Given the description of an element on the screen output the (x, y) to click on. 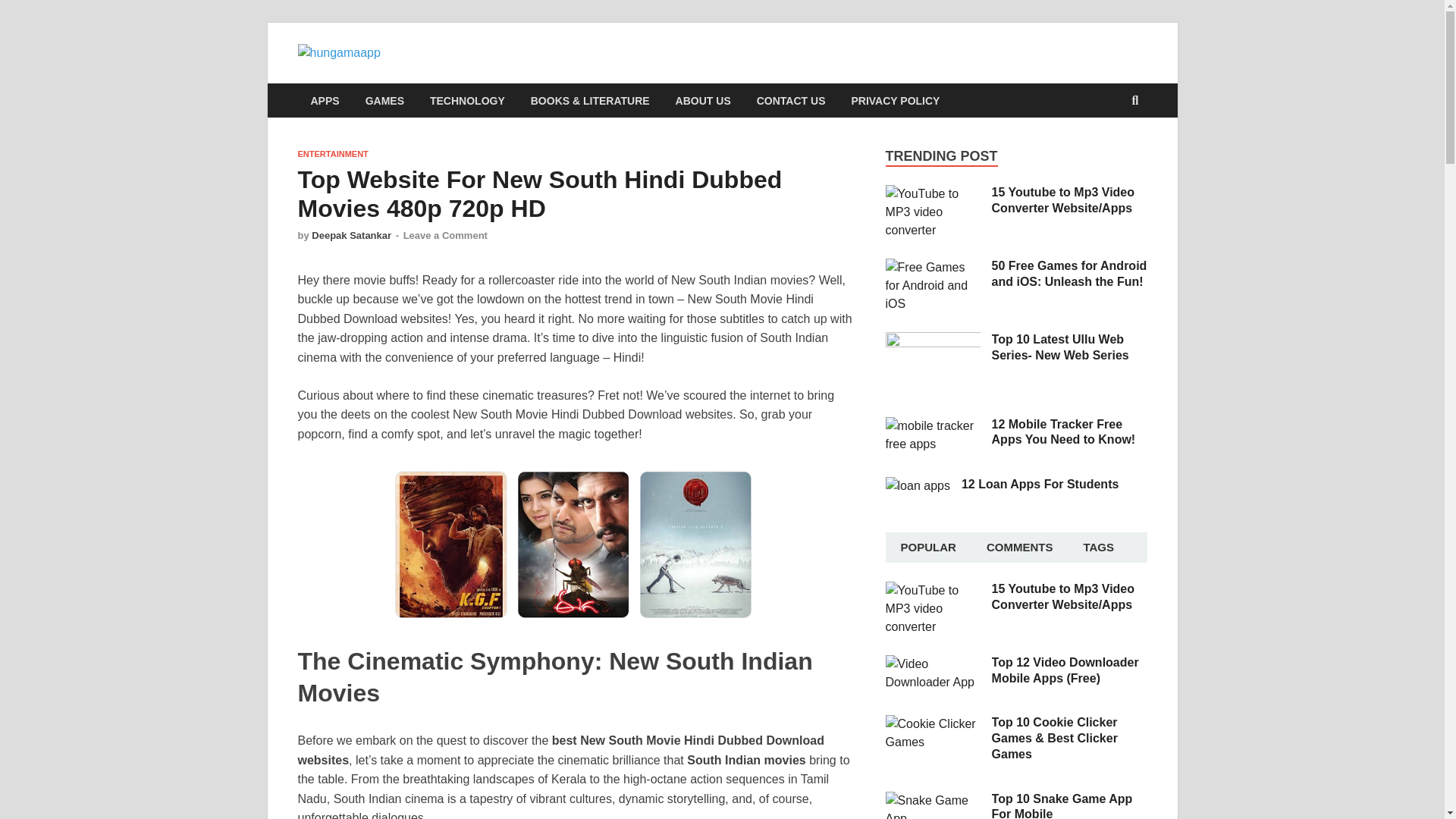
50 Free Games for Android and iOS: Unleash the Fun! (1069, 273)
Leave a Comment (445, 235)
PRIVACY POLICY (895, 100)
Deepak Satankar (351, 235)
TECHNOLOGY (467, 100)
12 Mobile Tracker Free Apps You Need to Know! (932, 424)
APPS (324, 100)
CONTACT US (791, 100)
GAMES (384, 100)
ENTERTAINMENT (332, 153)
